Given the description of an element on the screen output the (x, y) to click on. 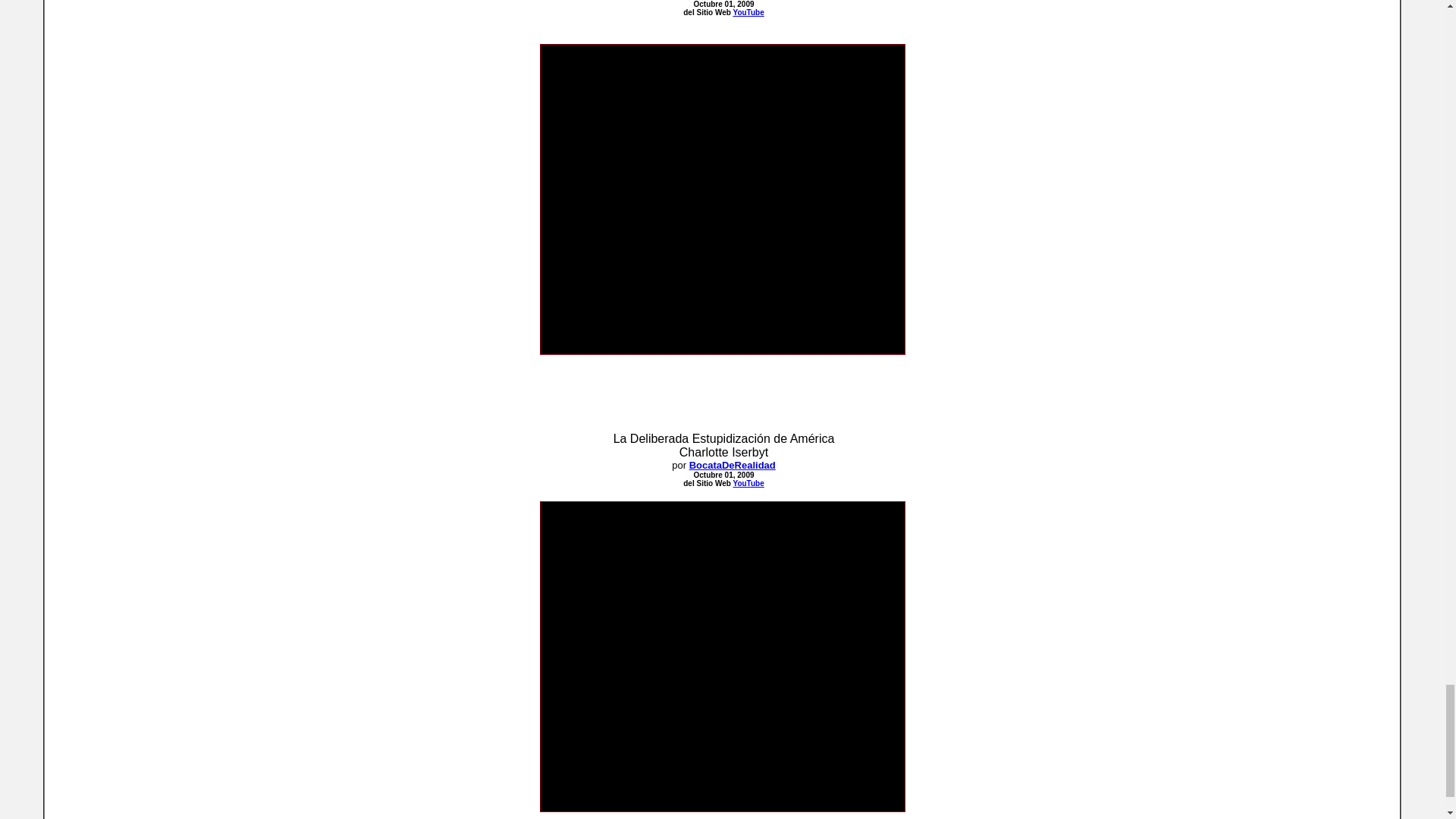
Charlotte Iserbyt (723, 451)
YouTube (747, 483)
YouTube (747, 12)
BocataDeRealidad (732, 464)
